Given the description of an element on the screen output the (x, y) to click on. 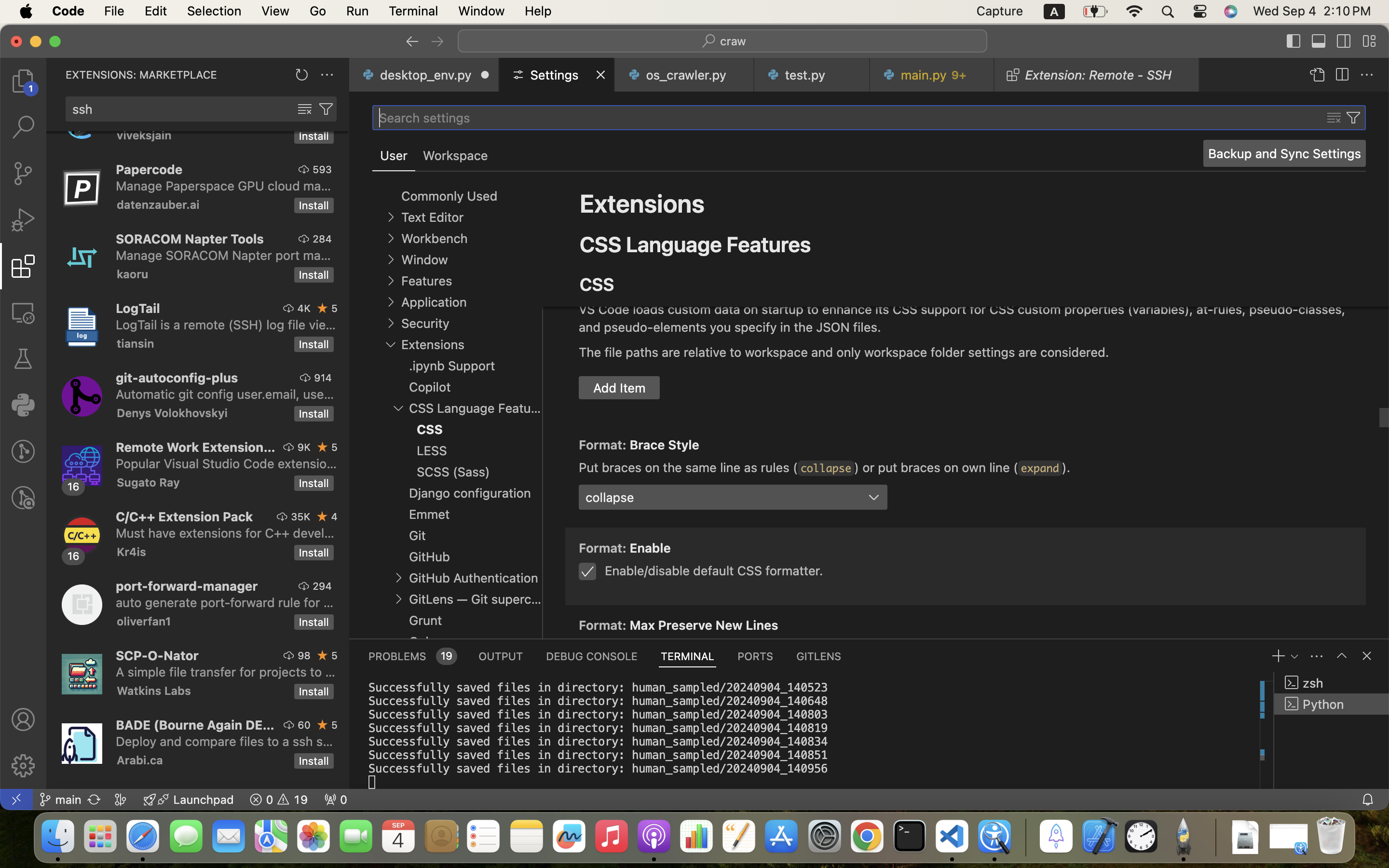
 Element type: AXButton (1369, 41)
Kr4is Element type: AXStaticText (131, 551)
Copilot Element type: AXStaticText (429, 386)
 Element type: AXGroup (23, 127)
Brace Style Element type: AXStaticText (664, 444)
